Given the description of an element on the screen output the (x, y) to click on. 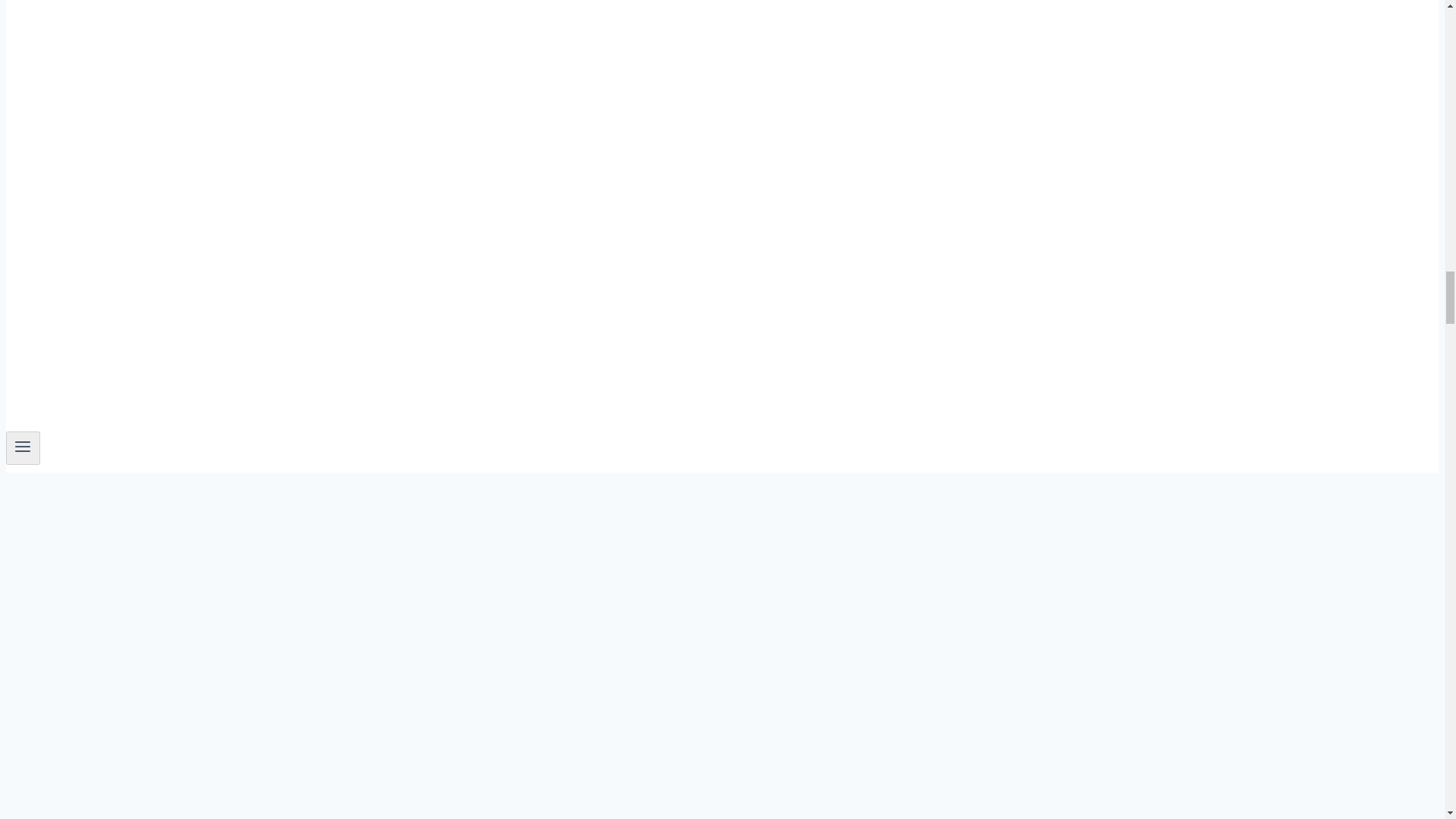
Toggle Menu (22, 446)
Toggle Menu (22, 448)
